Given the description of an element on the screen output the (x, y) to click on. 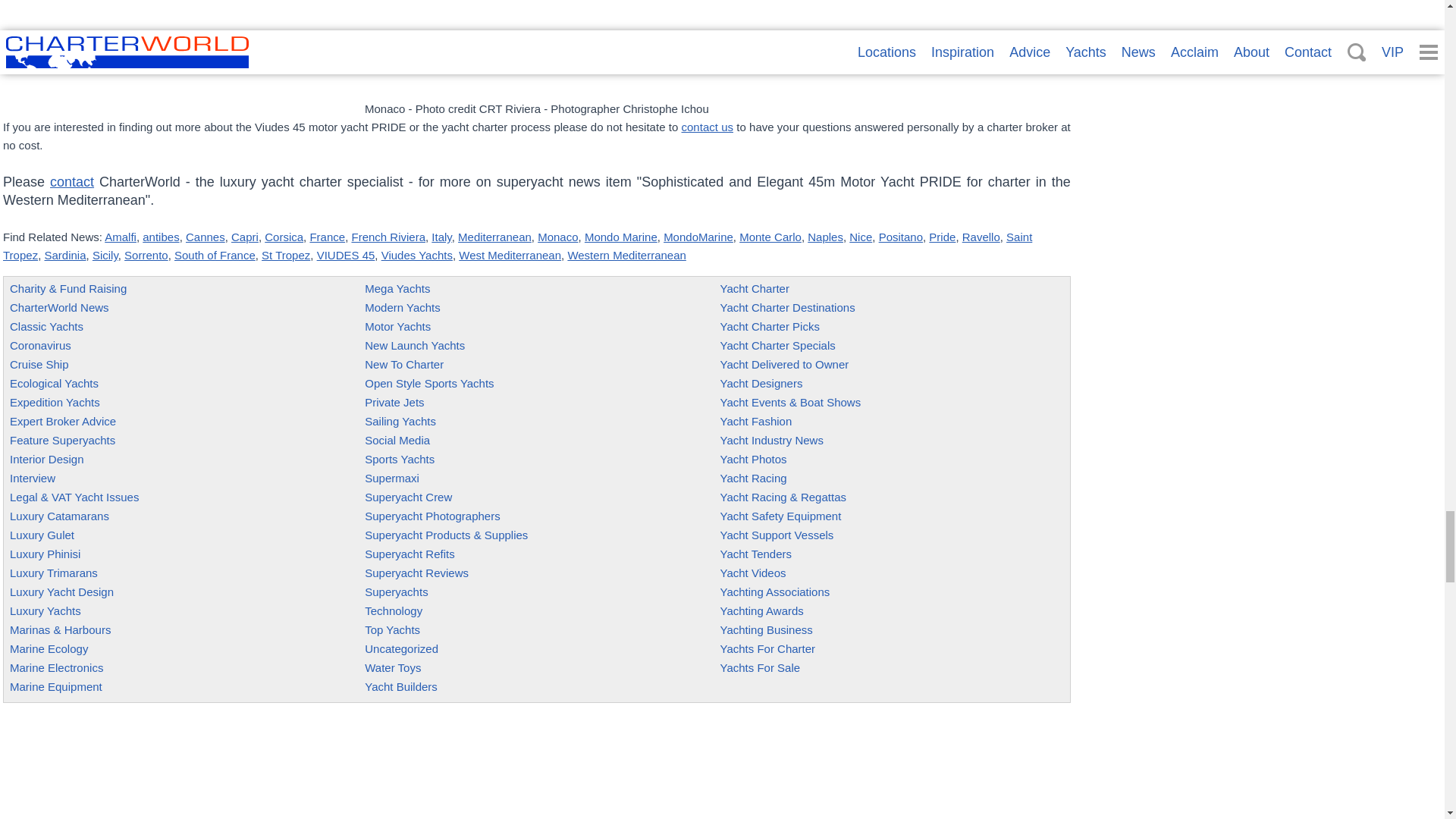
Here is the CharterWorld charter yacht pick of the week. (769, 326)
